Given the description of an element on the screen output the (x, y) to click on. 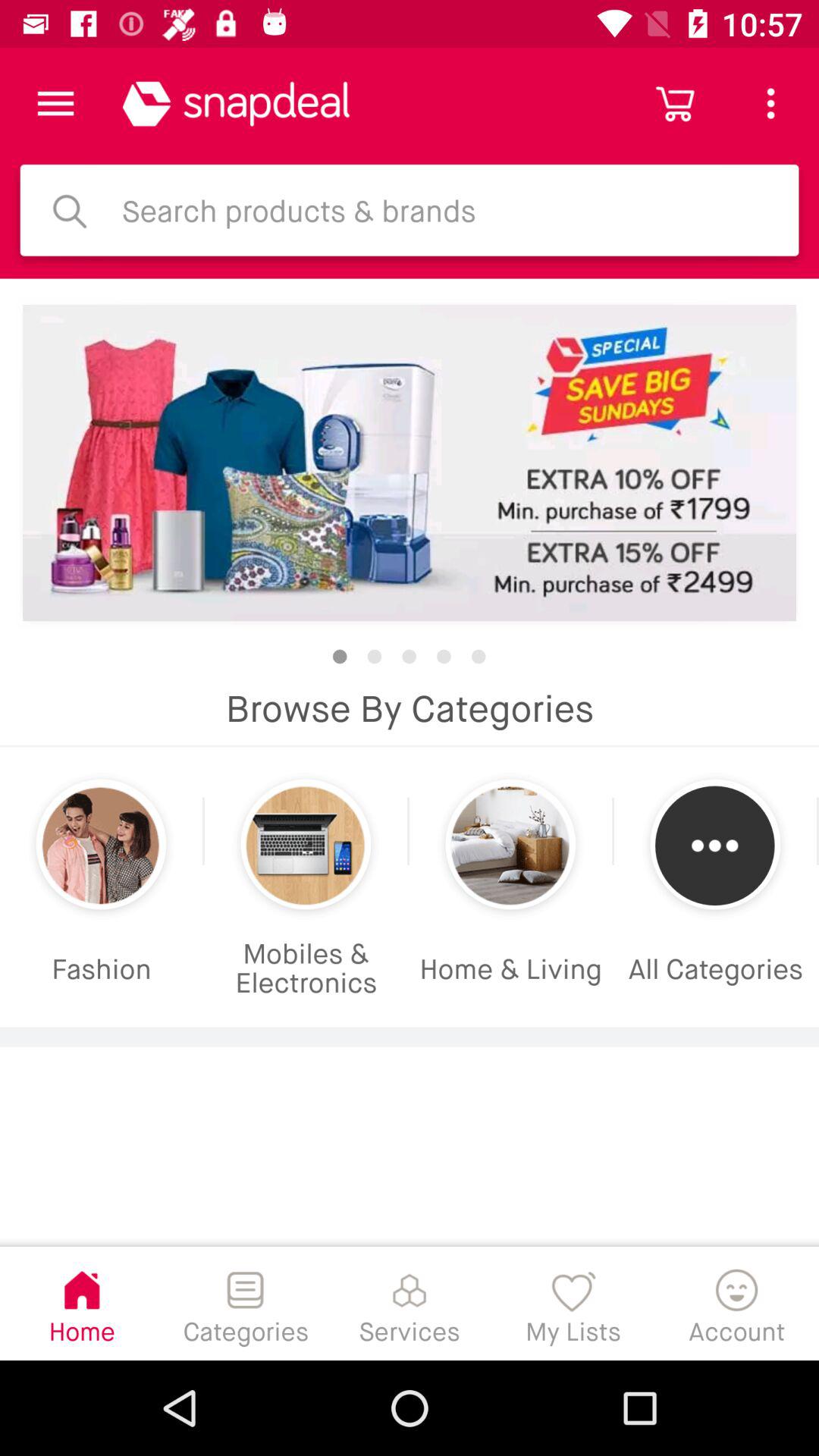
click the item to the right of the my lists (737, 1303)
